Given the description of an element on the screen output the (x, y) to click on. 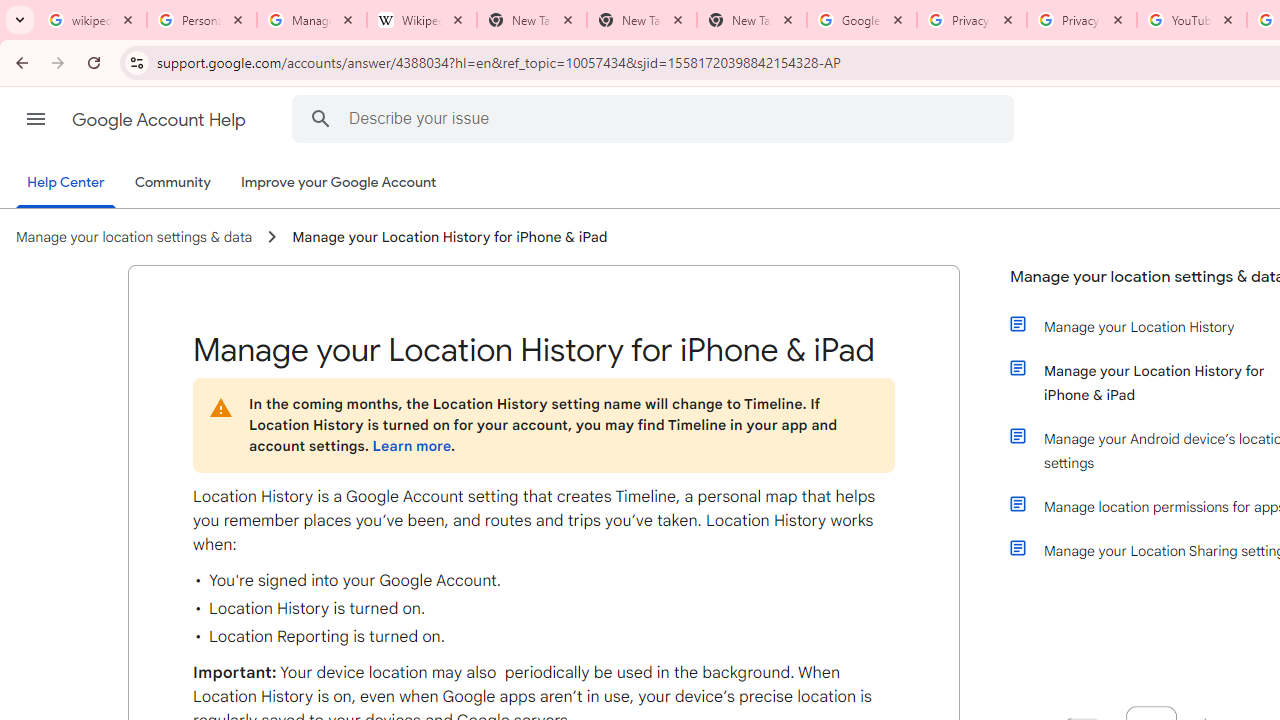
Search Help Center (320, 118)
